Given the description of an element on the screen output the (x, y) to click on. 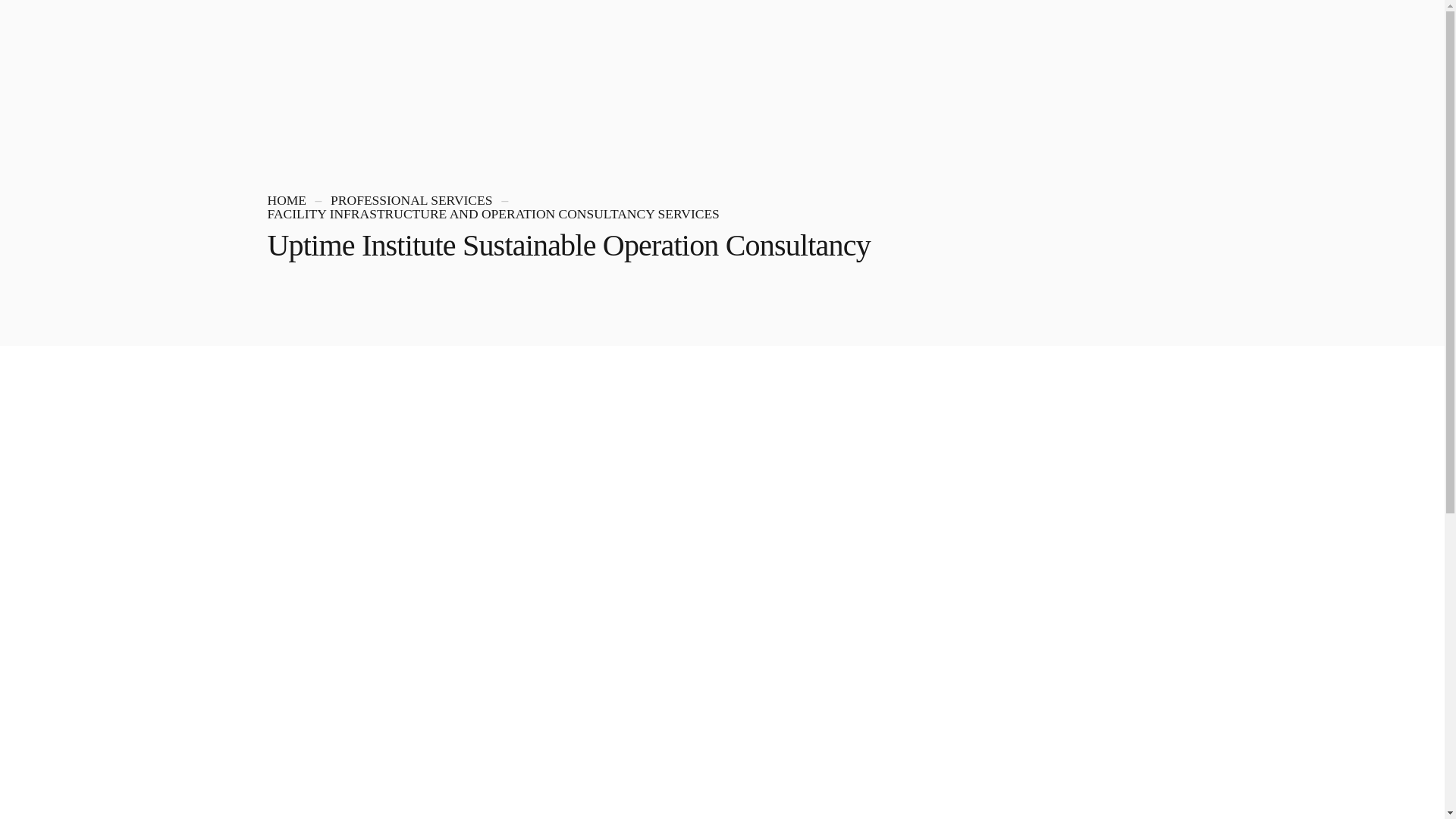
PROFESSIONAL SERVICES (411, 200)
otomatica-footer (340, 282)
FACILITY INFRASTRUCTURE AND OPERATION CONSULTANCY SERVICES (492, 213)
HOME (285, 200)
